Given the description of an element on the screen output the (x, y) to click on. 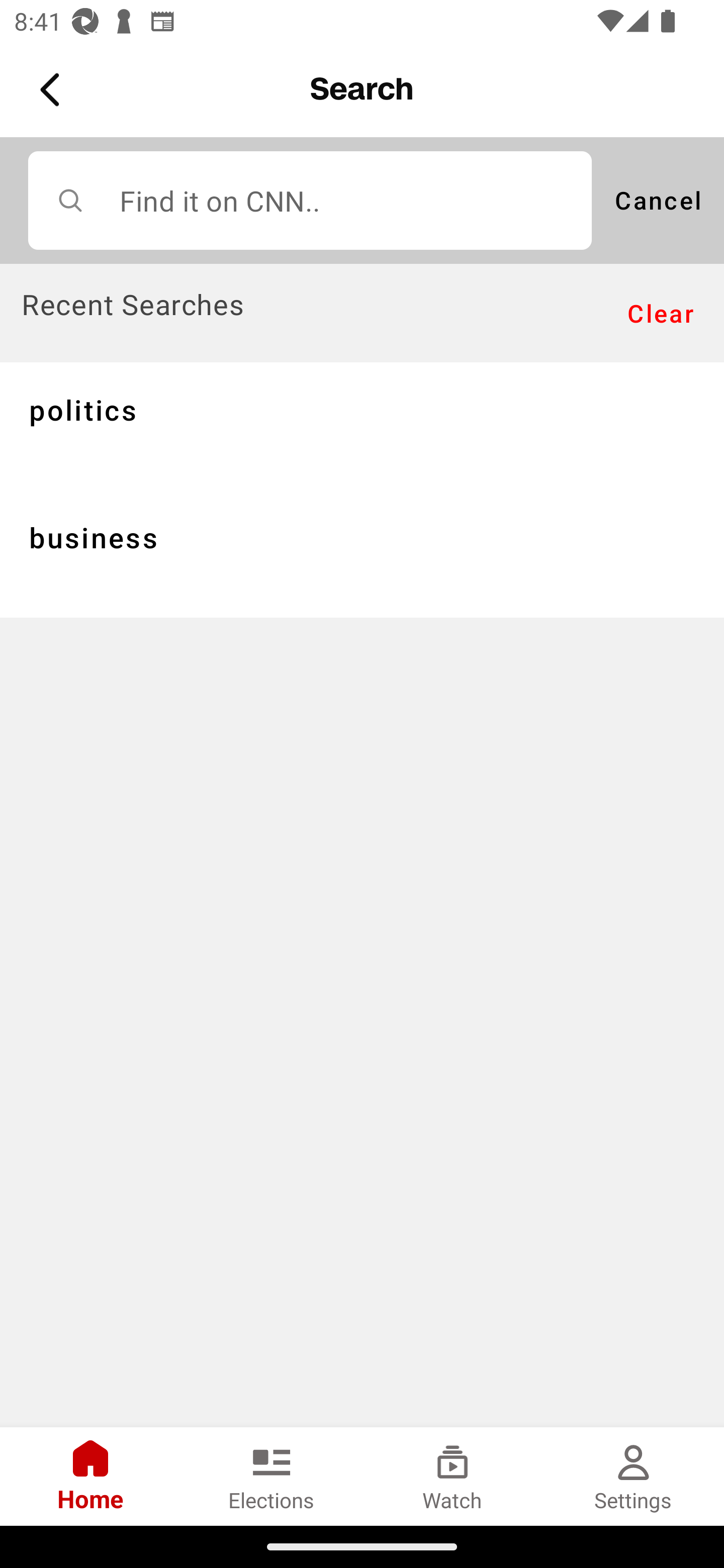
Back Button (52, 89)
Cancel (657, 199)
Find it on CNN.. (309, 199)
Clear (660, 313)
politics
 (362, 425)
business
 (362, 553)
Elections (271, 1475)
Watch (452, 1475)
Settings (633, 1475)
